Given the description of an element on the screen output the (x, y) to click on. 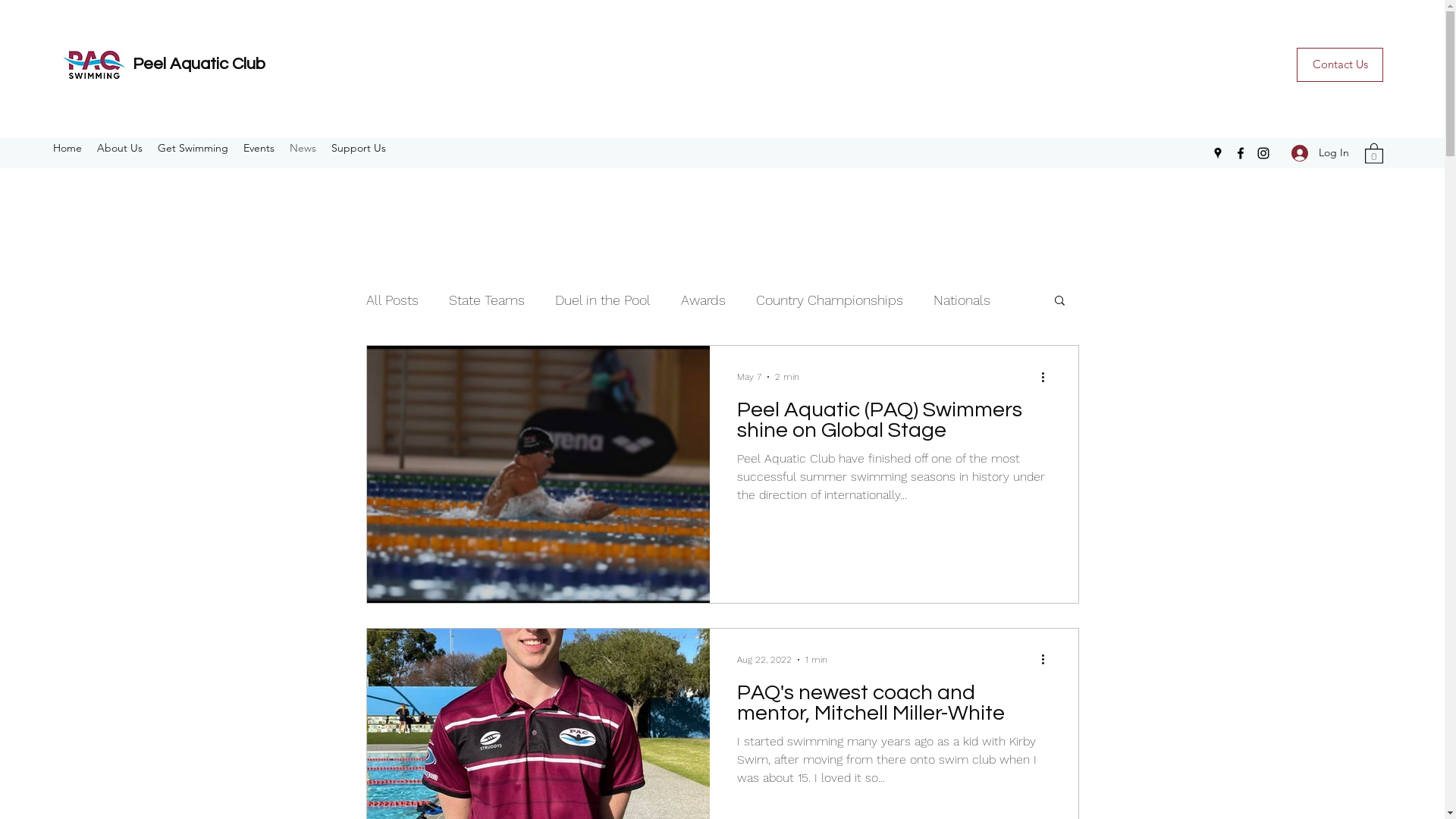
Peel Aquatic (PAQ) Swimmers shine on Global Stage Element type: text (894, 423)
Peel Aquatic Club Element type: text (198, 63)
PAQ's newest coach and mentor, Mitchell Miller-White Element type: text (894, 705)
Log In Element type: text (1319, 152)
Nationals Element type: text (960, 299)
Duel in the Pool Element type: text (602, 299)
Support Us Element type: text (358, 147)
State Teams Element type: text (486, 299)
Home Element type: text (67, 147)
All Posts Element type: text (391, 299)
Get Swimming Element type: text (192, 147)
About Us Element type: text (119, 147)
Events Element type: text (258, 147)
News Element type: text (302, 147)
Awards Element type: text (702, 299)
0 Element type: text (1374, 152)
Contact Us Element type: text (1339, 64)
Country Championships Element type: text (828, 299)
